Given the description of an element on the screen output the (x, y) to click on. 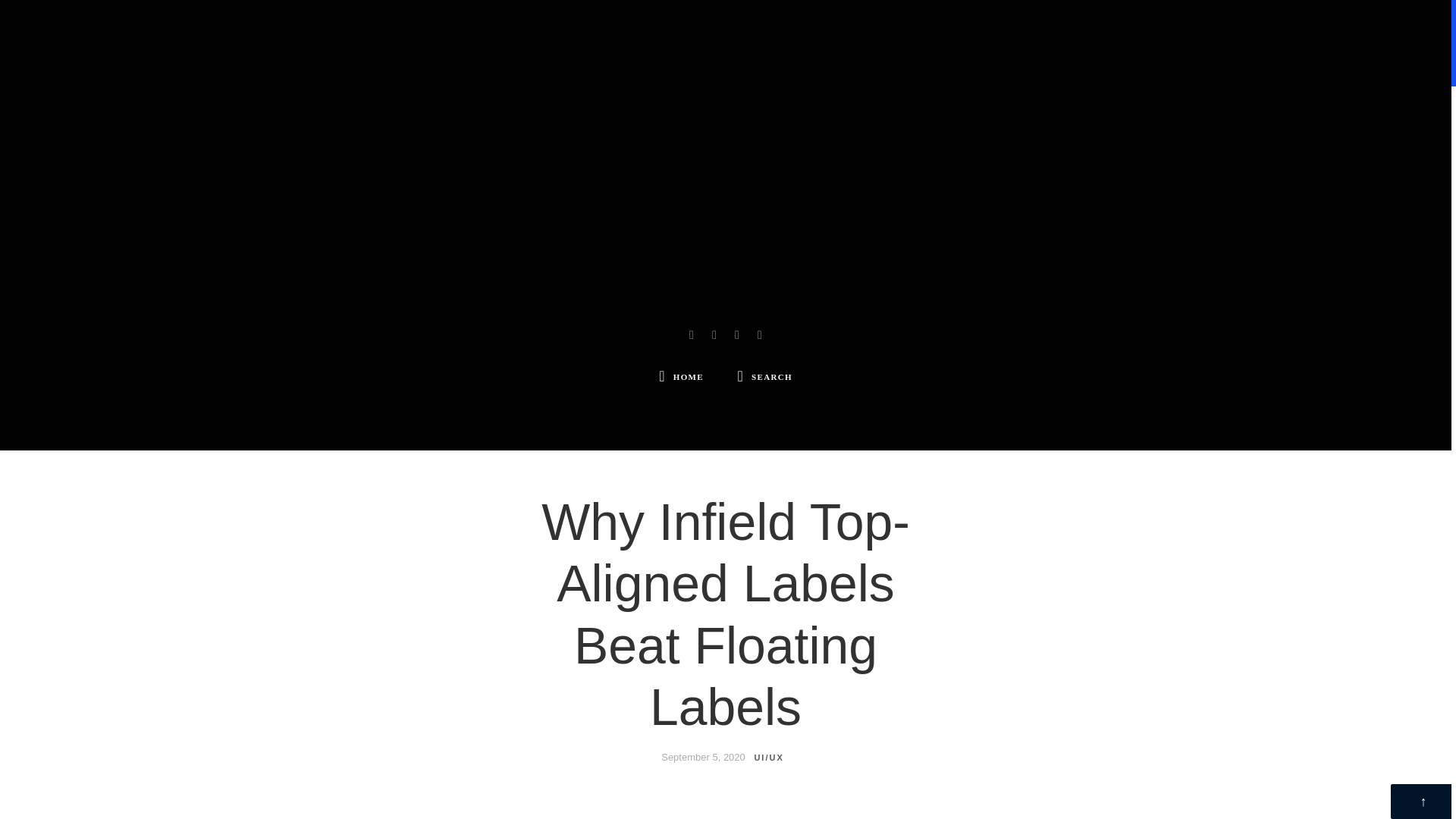
HOME (681, 378)
SEARCH (763, 378)
